Given the description of an element on the screen output the (x, y) to click on. 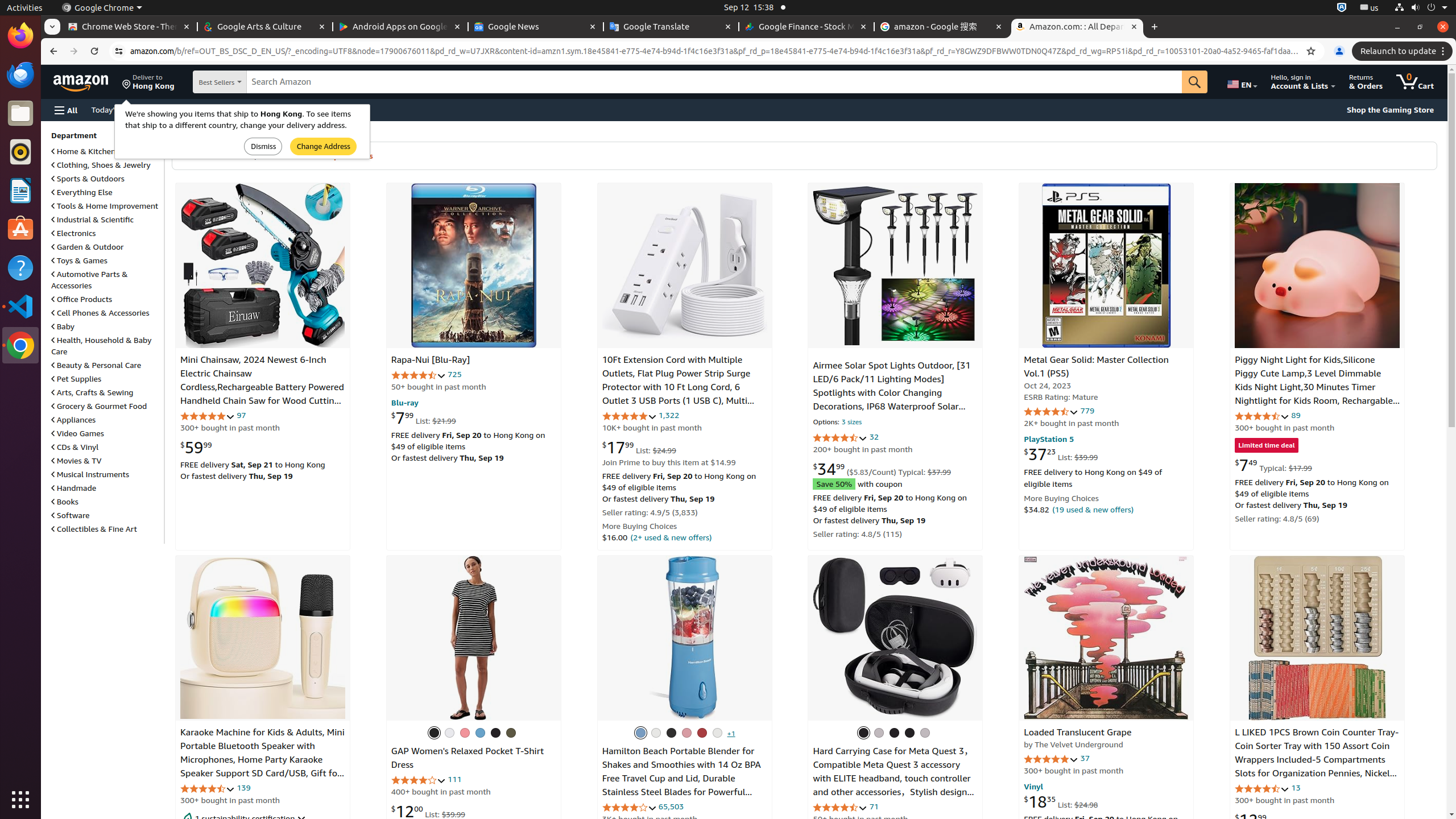
1,322 Element type: link (668, 415)
TeoTeeo Piggy Night Light for Kids,Silicone Piggy Cute Lamp,3 Level Dimmable Kids Night Light,30 Minutes Timer Nightlight ... Element type: link (1317, 265)
Skip to main content Element type: link (87, 80)
Cell Phones & Accessories Element type: link (100, 312)
Amazon Element type: link (82, 81)
